Given the description of an element on the screen output the (x, y) to click on. 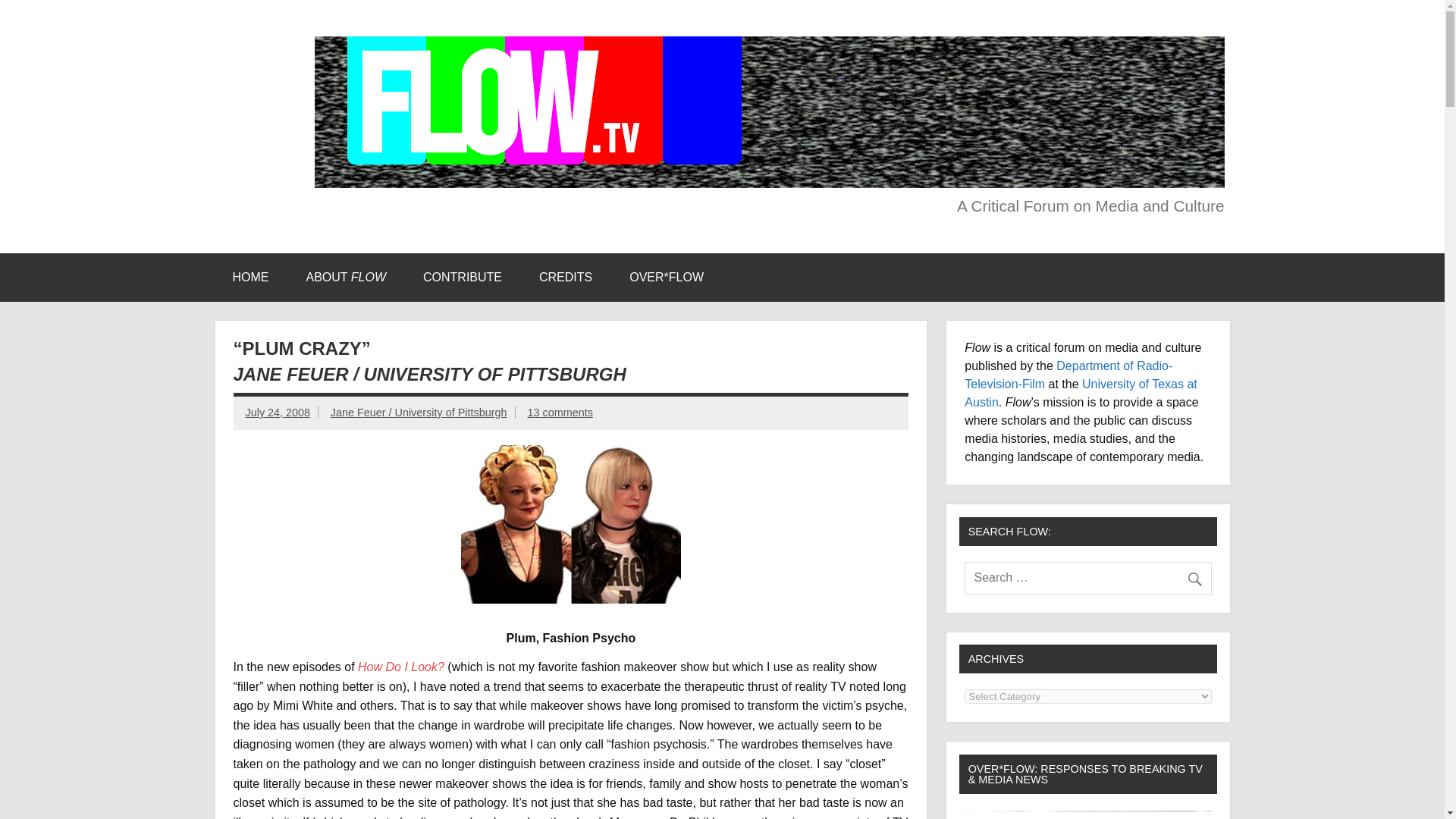
How Do I Look? (401, 666)
13 comments (559, 412)
ABOUT FLOW (346, 277)
CREDITS (565, 277)
CONTRIBUTE (461, 277)
July 24, 2008 (278, 412)
10:01 pm (278, 412)
Plum (571, 524)
HOME (250, 277)
Flow (253, 51)
